Given the description of an element on the screen output the (x, y) to click on. 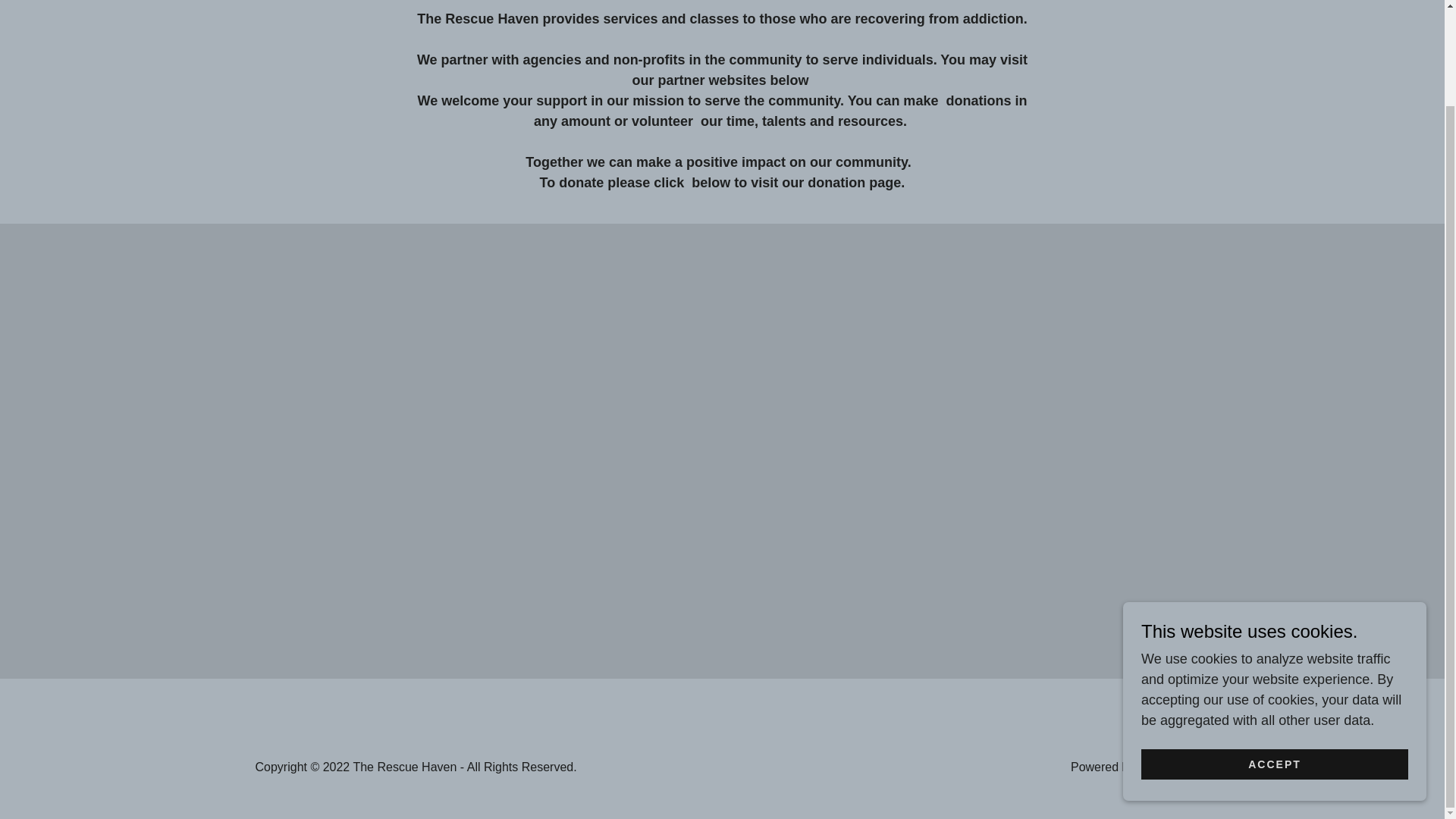
ACCEPT (1274, 653)
GoDaddy (1163, 766)
